Given the description of an element on the screen output the (x, y) to click on. 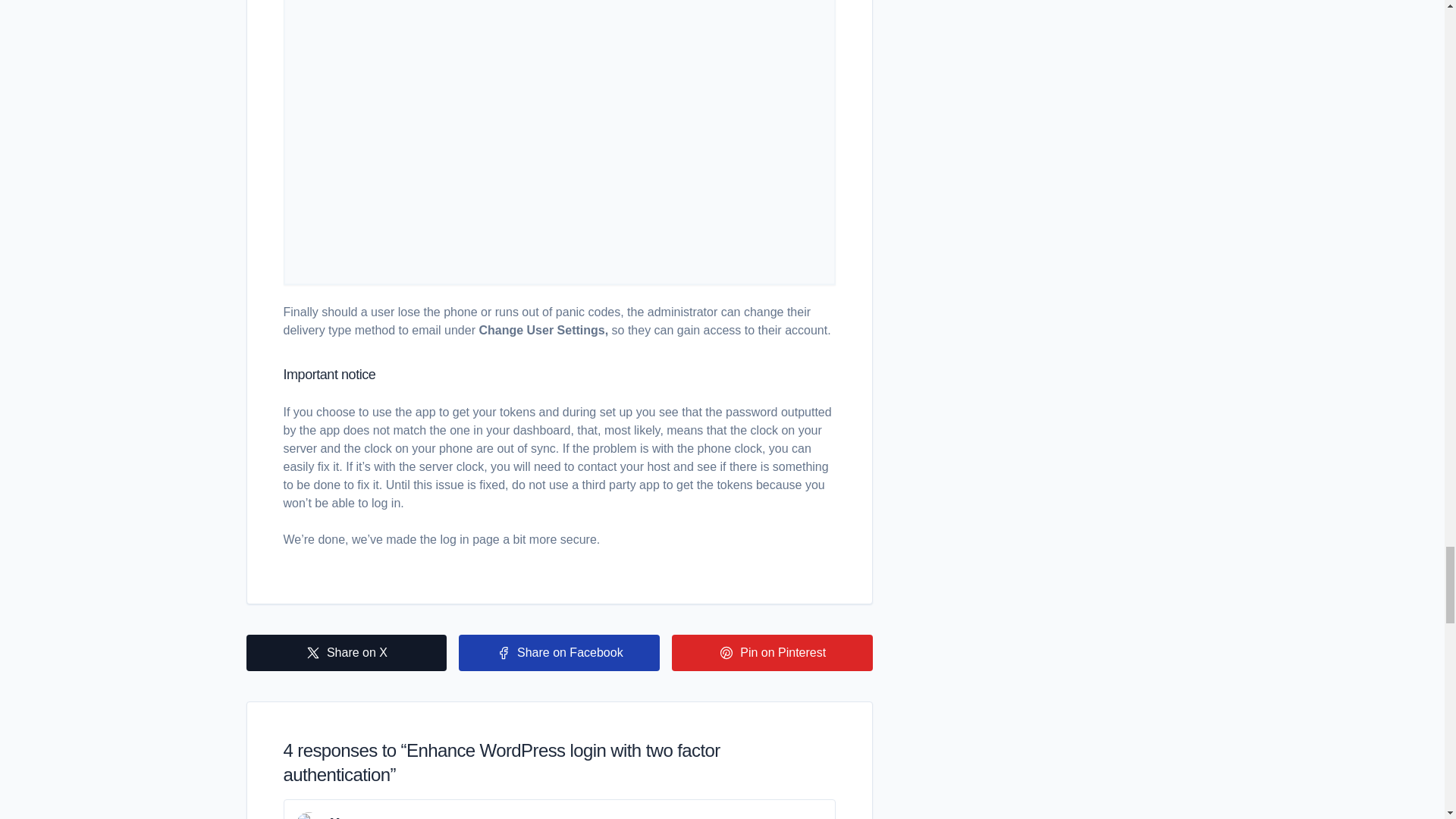
Munna (349, 817)
Share on X (346, 652)
Share on Facebook (558, 652)
Pin on Pinterest (771, 652)
